Given the description of an element on the screen output the (x, y) to click on. 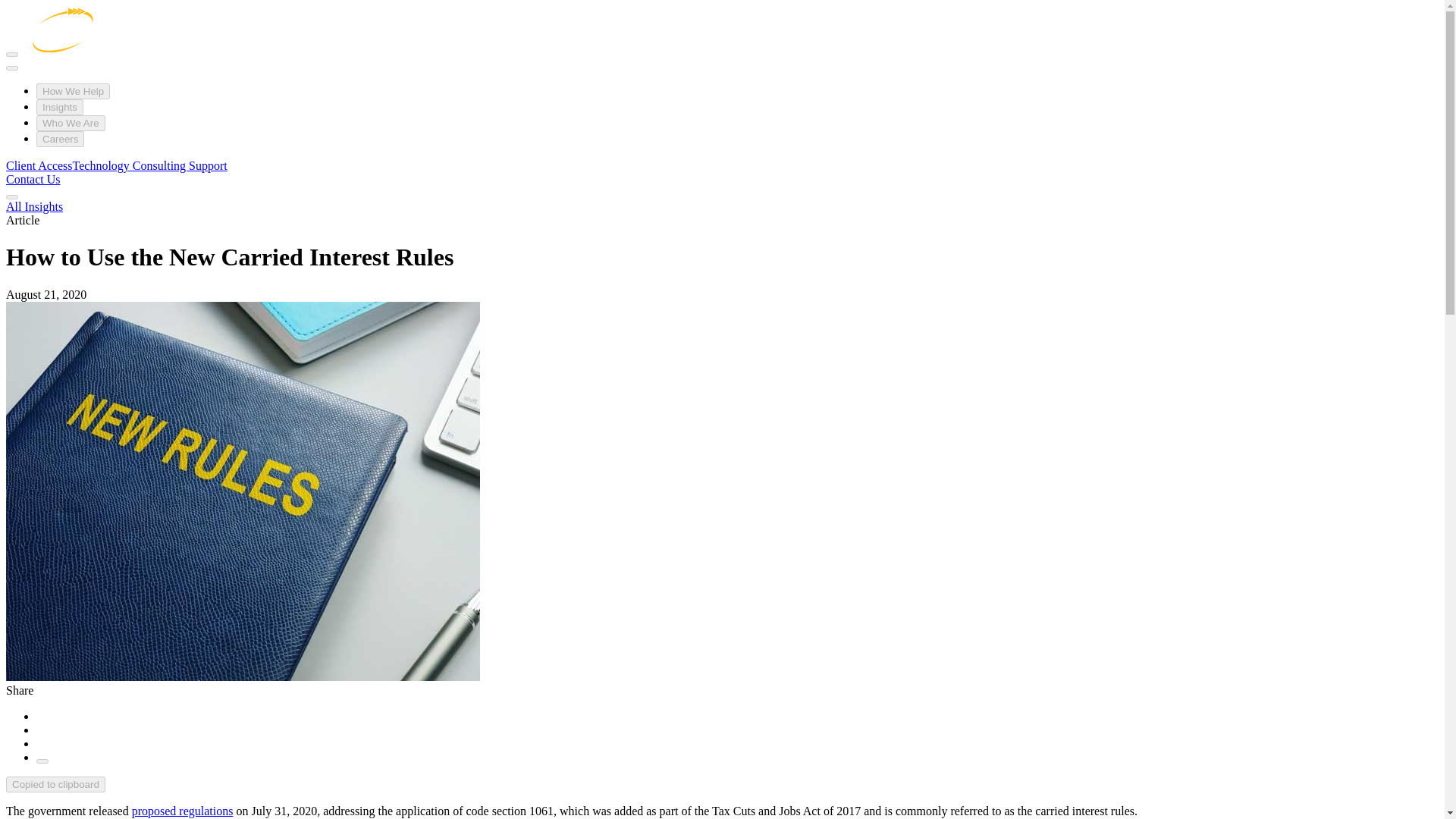
Technology Consulting Support (149, 164)
Copy Link (42, 761)
Insights (59, 107)
alt (62, 50)
Copied to clipboard (54, 784)
All Insights (33, 205)
Client Access (38, 164)
Who We Are (70, 123)
Careers (60, 139)
proposed regulations (182, 810)
How We Help (73, 91)
Contact Us (33, 178)
